Given the description of an element on the screen output the (x, y) to click on. 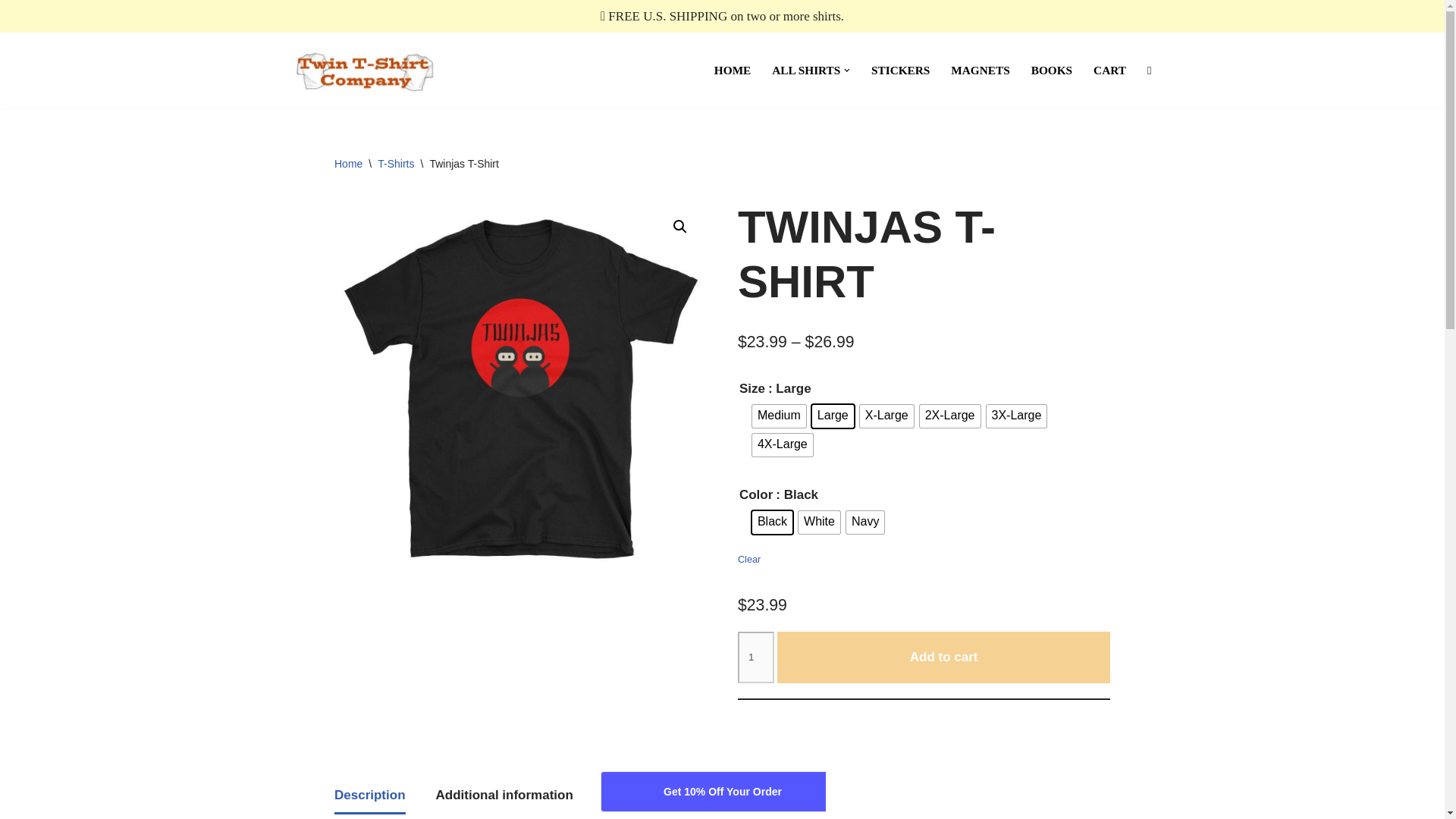
White (818, 522)
3X-Large (1016, 415)
Black (772, 522)
Clear (923, 559)
STICKERS (900, 69)
Description (370, 795)
Large (832, 415)
X-Large (887, 415)
Add to cart (943, 656)
4X-Large (782, 445)
Skip to content (11, 31)
Medium (779, 415)
CART (1109, 69)
Navy (864, 522)
